Given the description of an element on the screen output the (x, y) to click on. 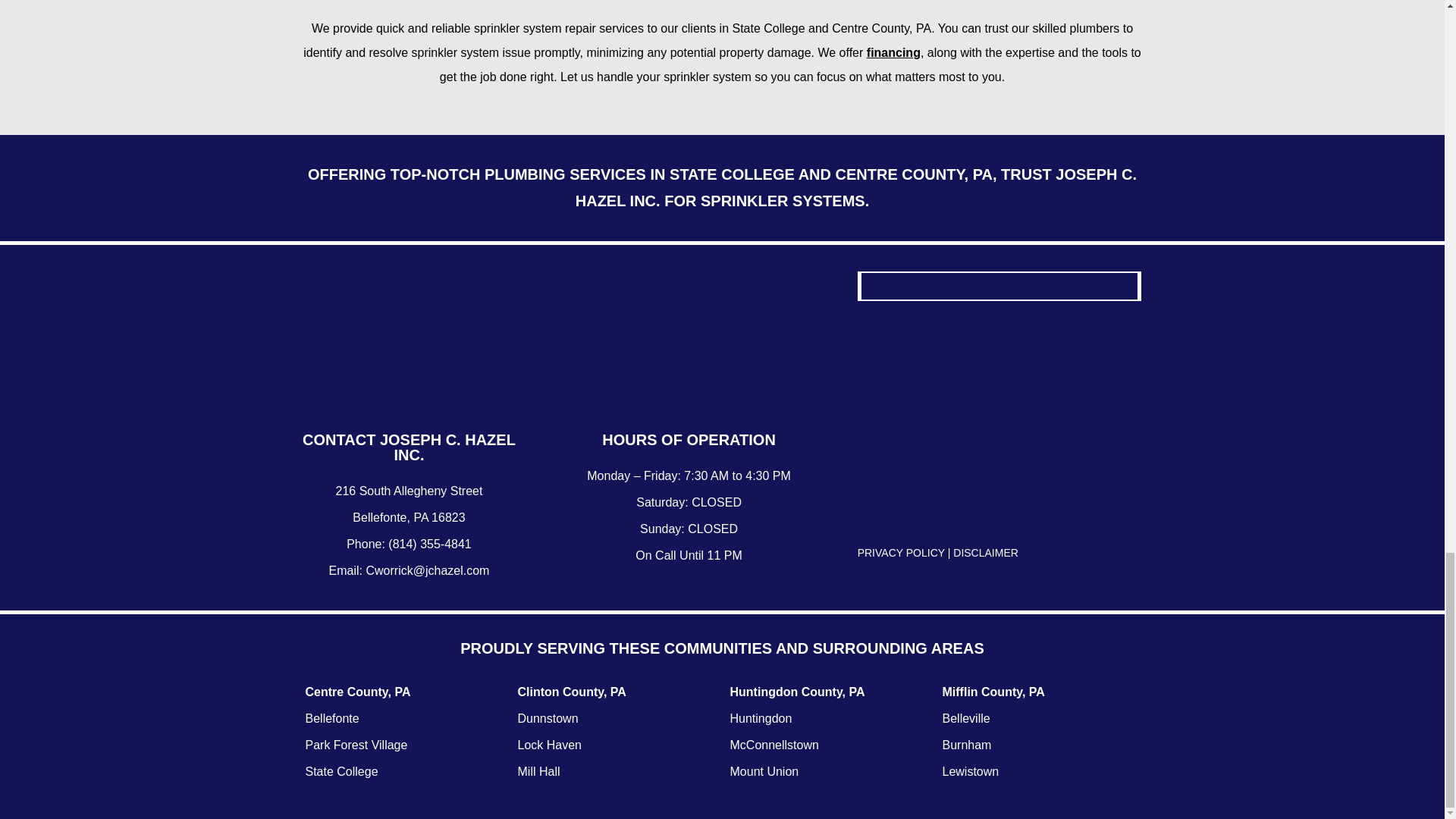
216 Allegheny St., Bellefonte, PA 16823 (999, 420)
